Given the description of an element on the screen output the (x, y) to click on. 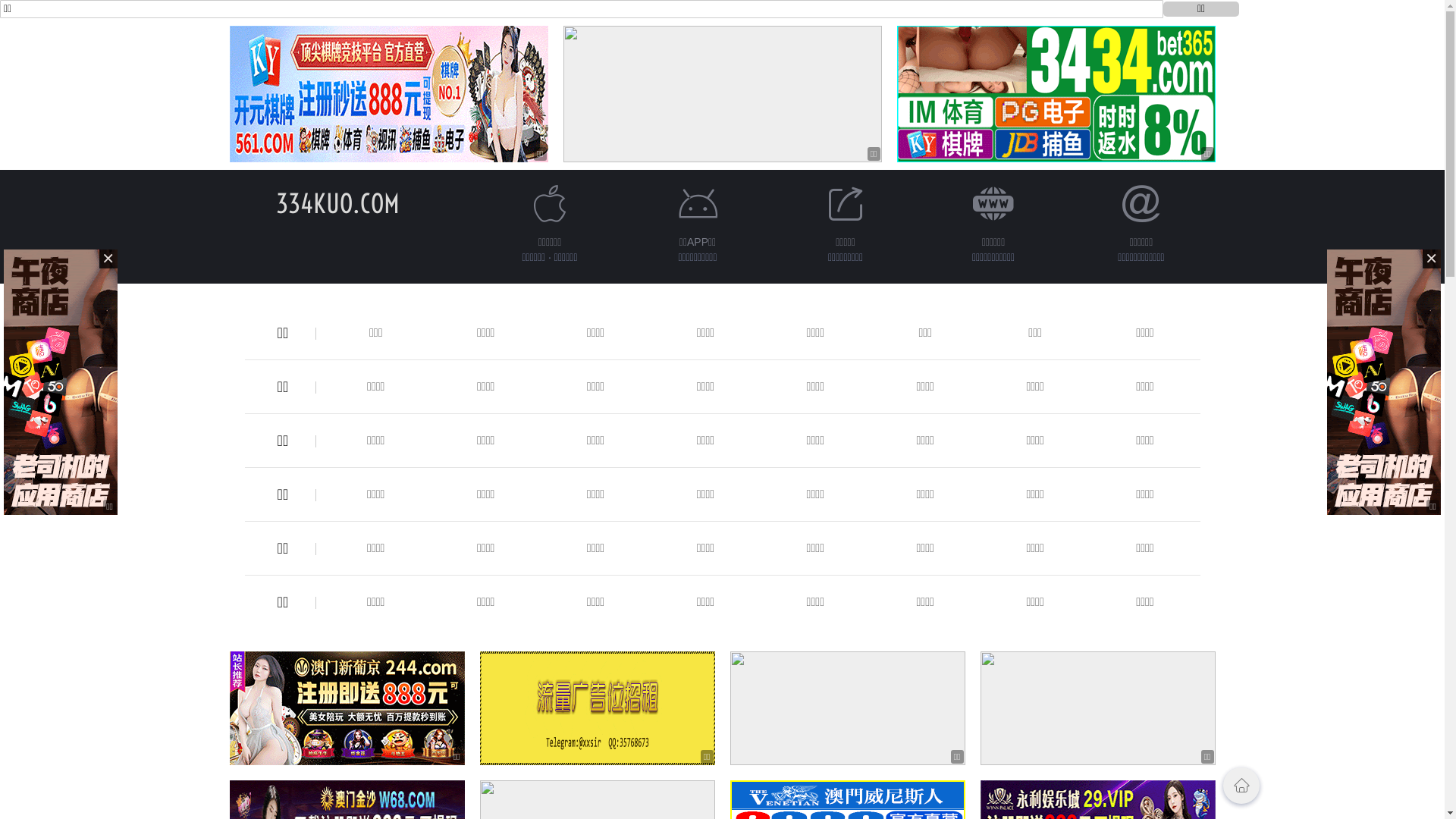
334KUO.COM Element type: text (337, 203)
